Given the description of an element on the screen output the (x, y) to click on. 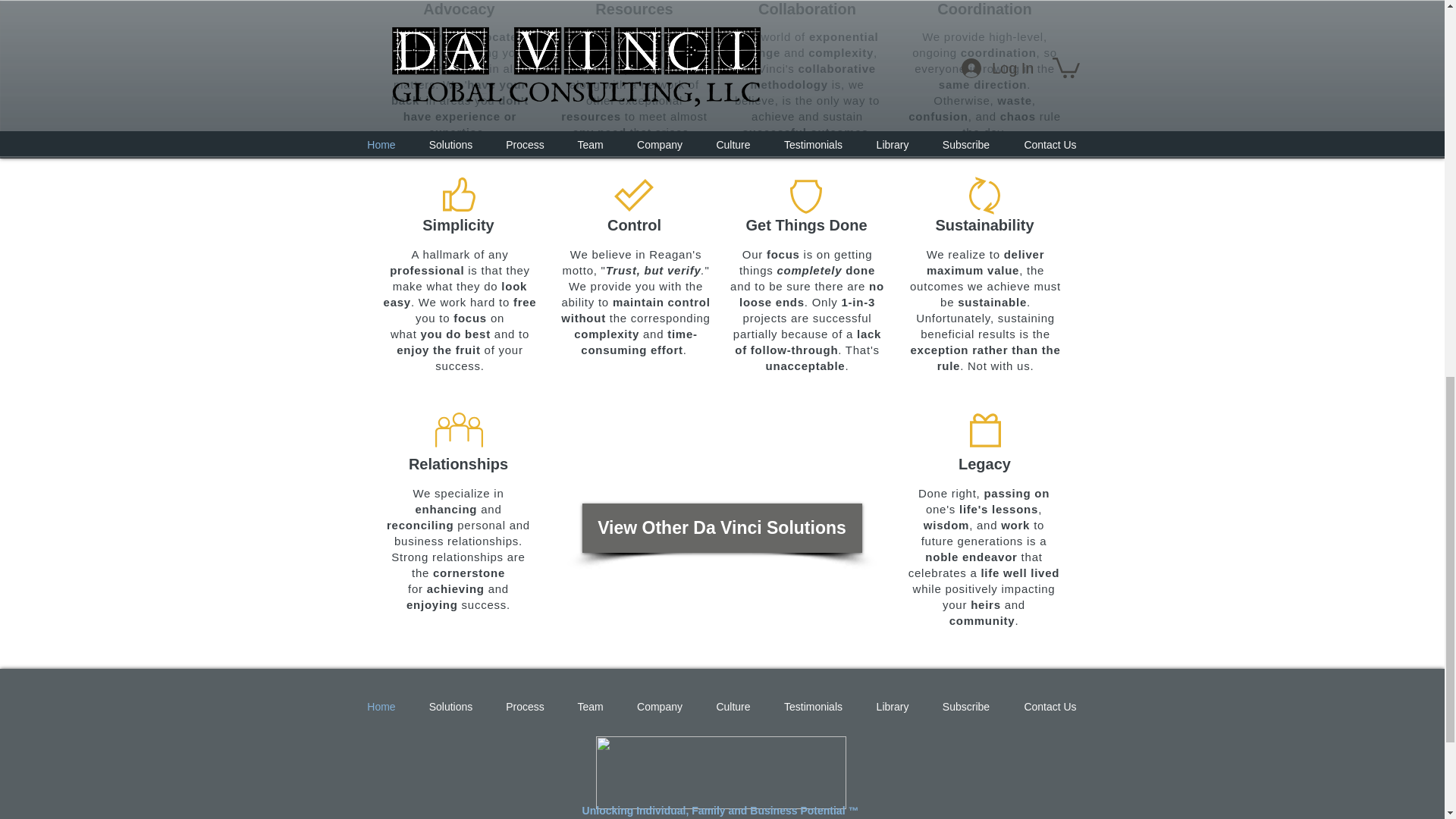
Culture (732, 706)
Home (381, 706)
Contact Us (1050, 706)
Testimonials (813, 706)
Library (893, 706)
View Other Da Vinci Solutions (721, 527)
Company (660, 706)
Team (590, 706)
Process (524, 706)
Subscribe (965, 706)
